Given the description of an element on the screen output the (x, y) to click on. 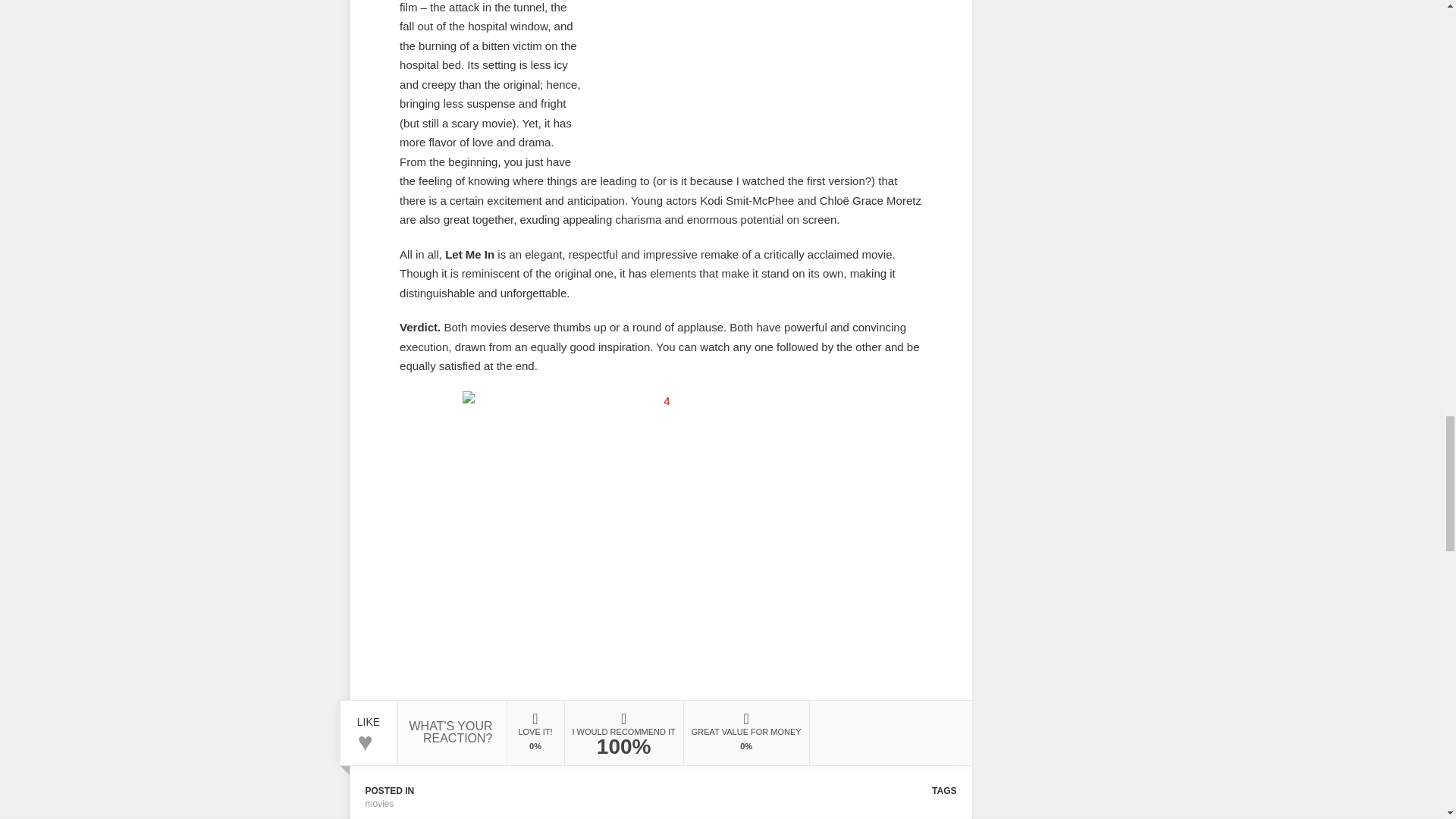
View all posts in movies (379, 803)
movies (379, 803)
LIKE (368, 715)
Likes (368, 715)
